Given the description of an element on the screen output the (x, y) to click on. 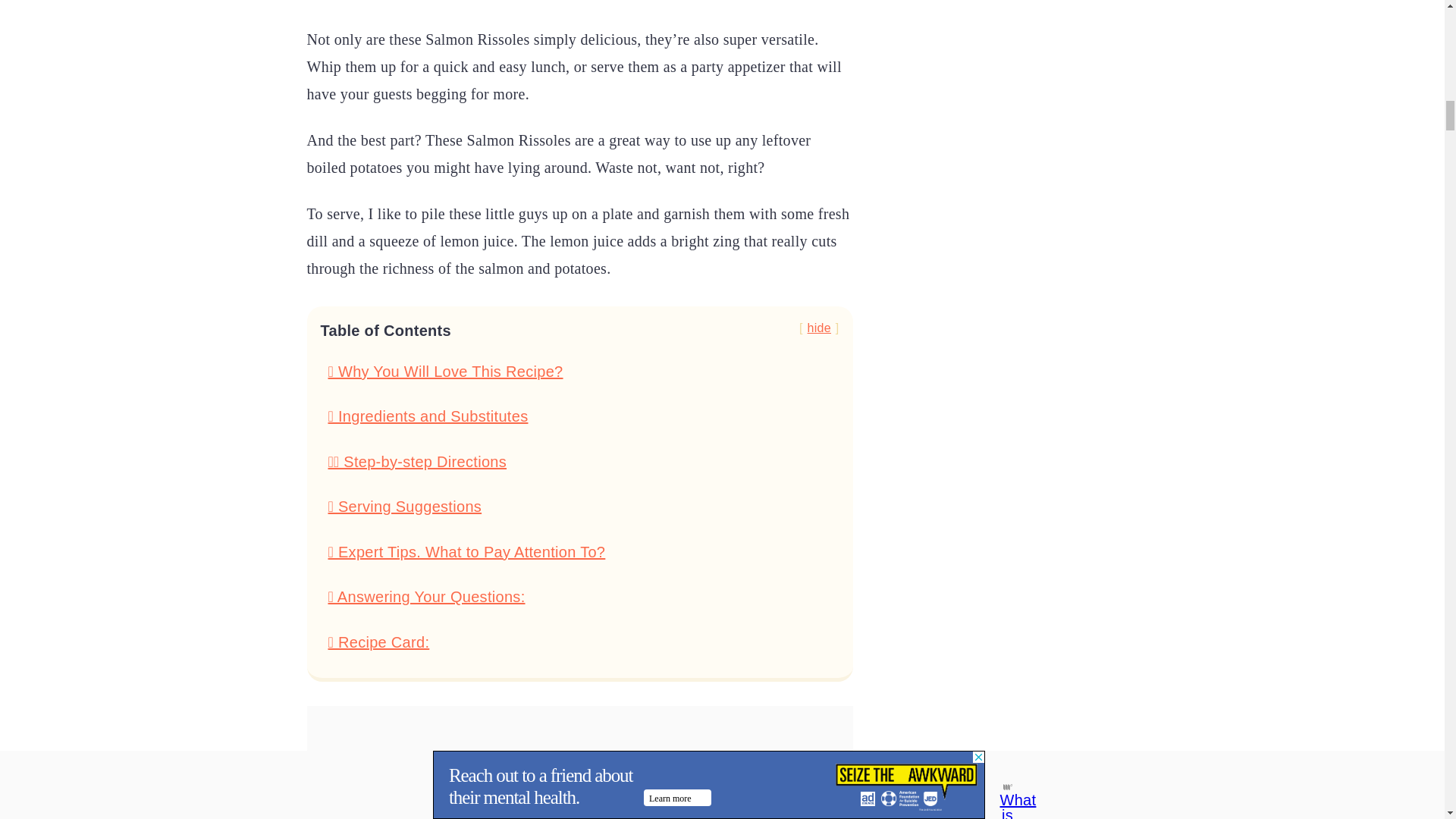
hide (819, 327)
